Given the description of an element on the screen output the (x, y) to click on. 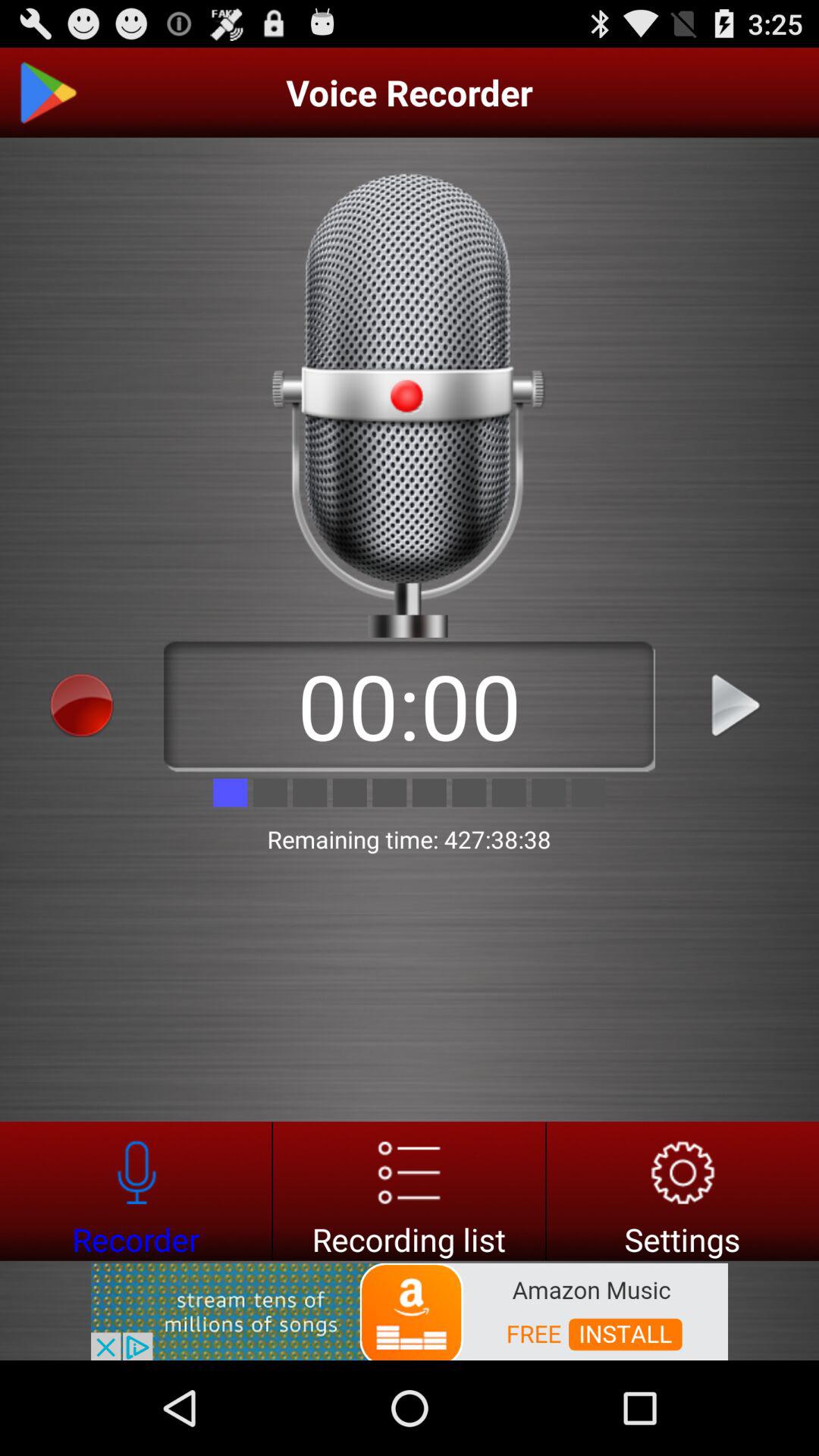
google play (47, 92)
